Given the description of an element on the screen output the (x, y) to click on. 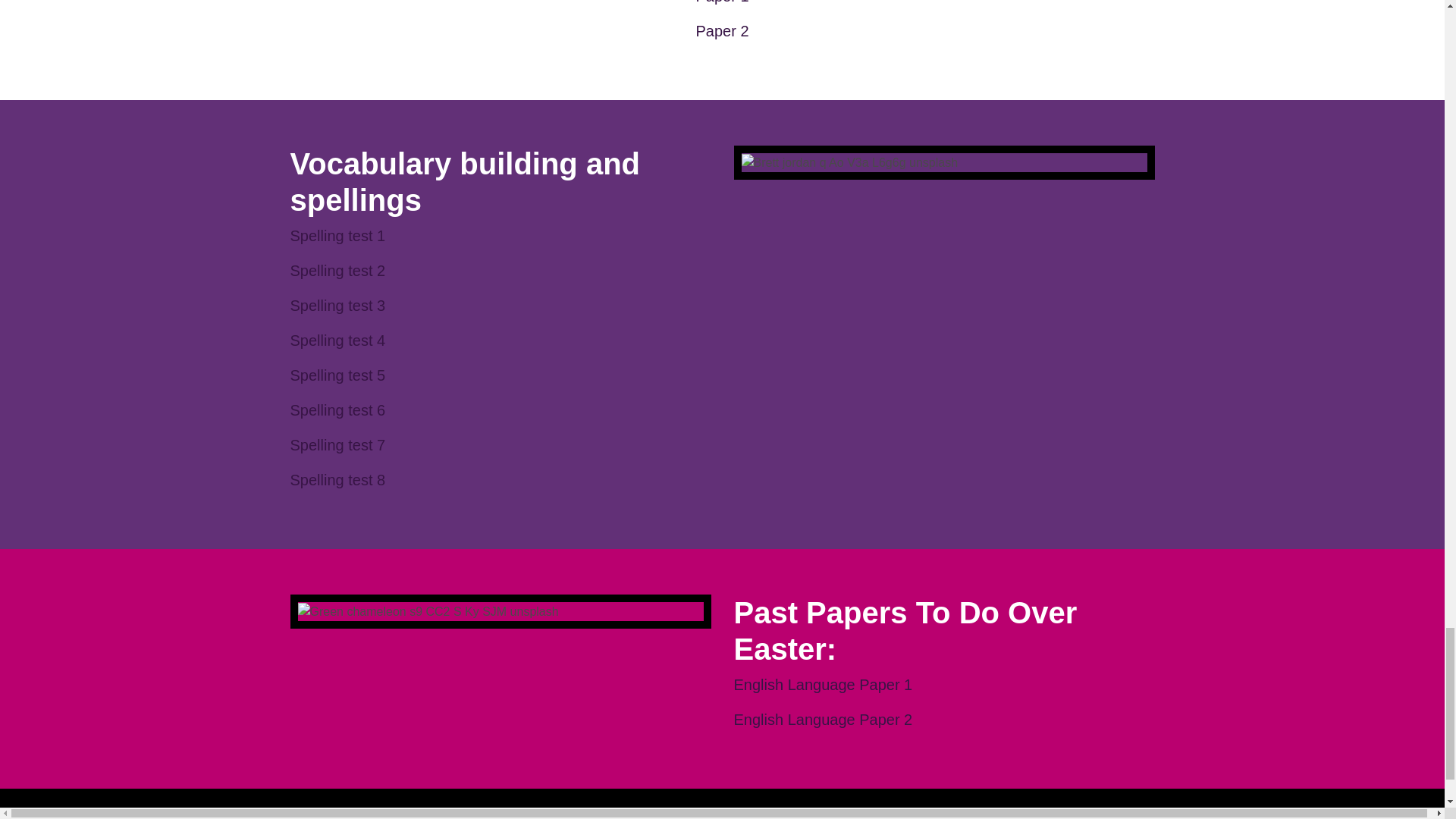
Paper 1 (721, 2)
Spelling test 6 (337, 410)
English Language Paper 1 (822, 684)
Spelling test 8 (337, 479)
Spelling test 1 (337, 235)
English Language Paper 2 (822, 719)
Spelling test 5 (337, 375)
Spelling test 4 (337, 340)
Spelling test 2 (337, 270)
Paper 2 (721, 30)
